Given the description of an element on the screen output the (x, y) to click on. 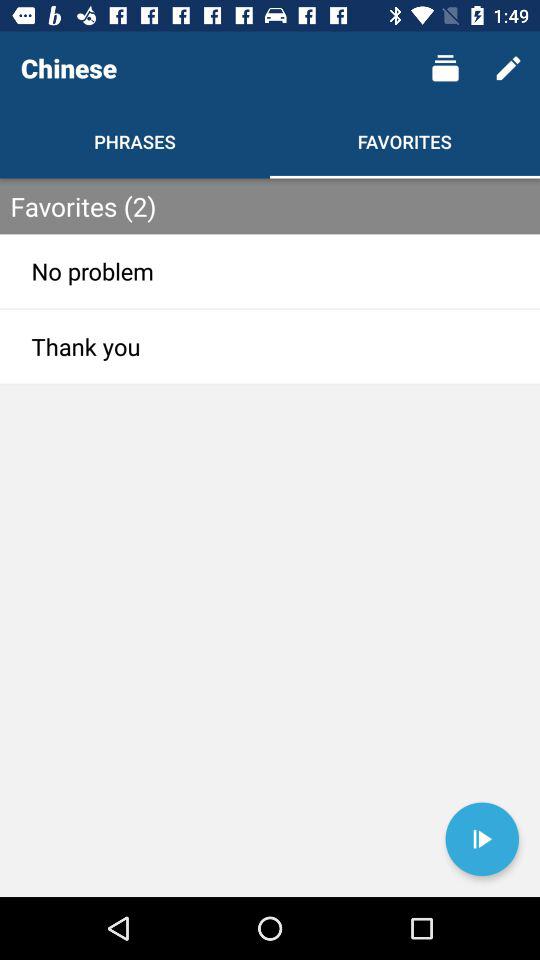
press the icon next to chinese icon (444, 67)
